Given the description of an element on the screen output the (x, y) to click on. 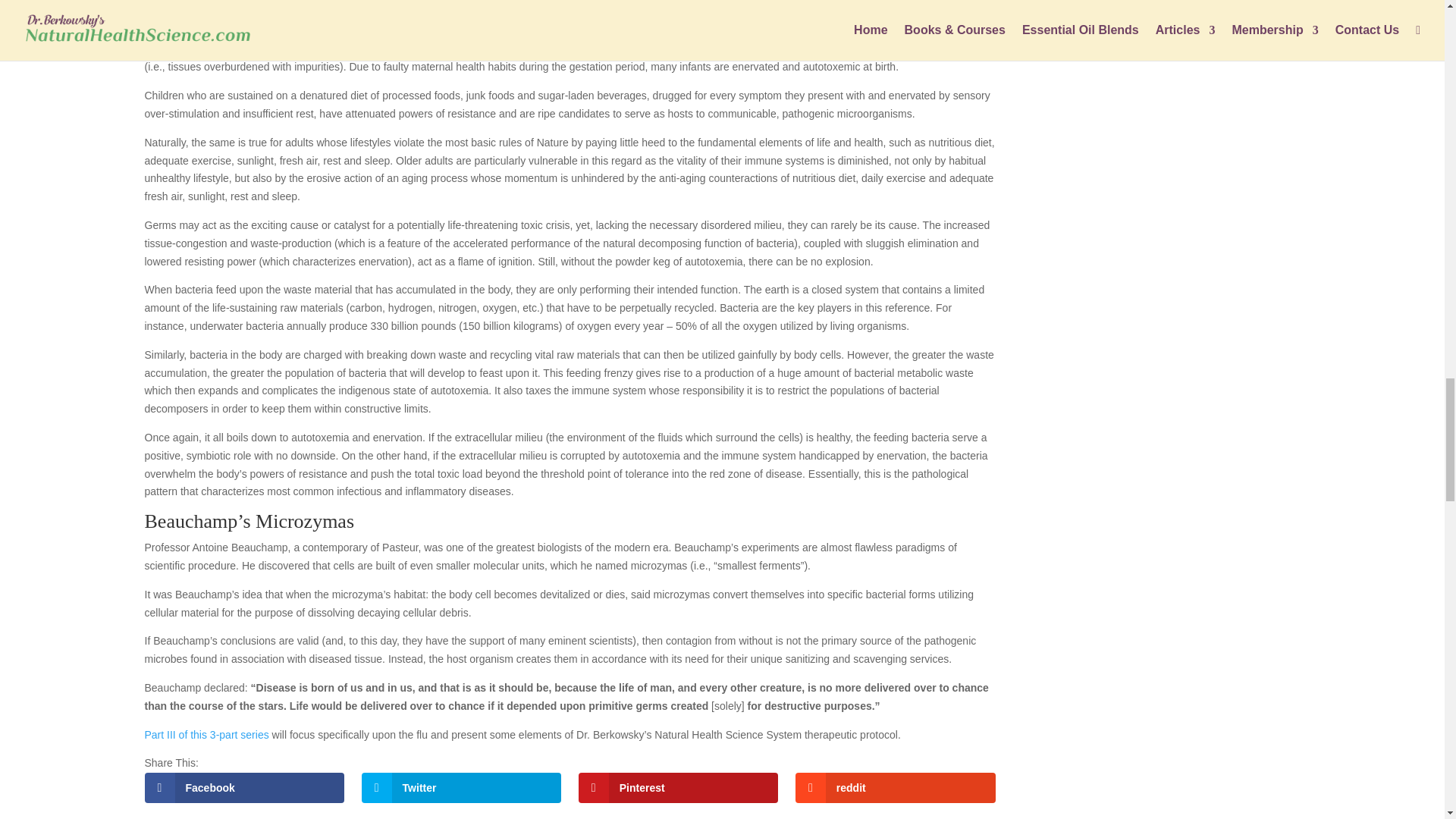
Part III of this 3-part series (205, 734)
Pinterest (678, 788)
Facebook (243, 788)
reddit (894, 788)
Twitter (461, 788)
